Given the description of an element on the screen output the (x, y) to click on. 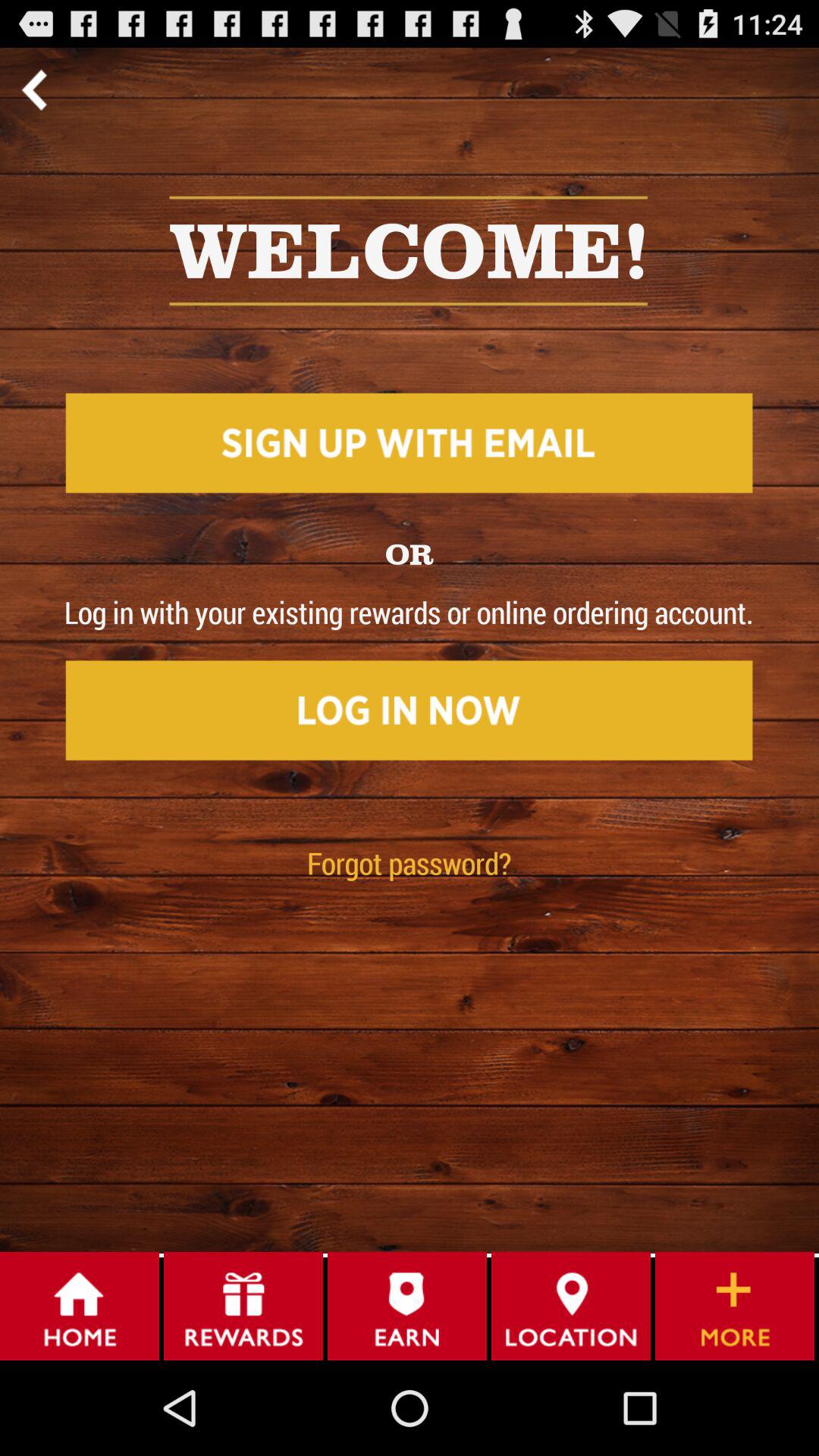
select log in now (408, 707)
